Given the description of an element on the screen output the (x, y) to click on. 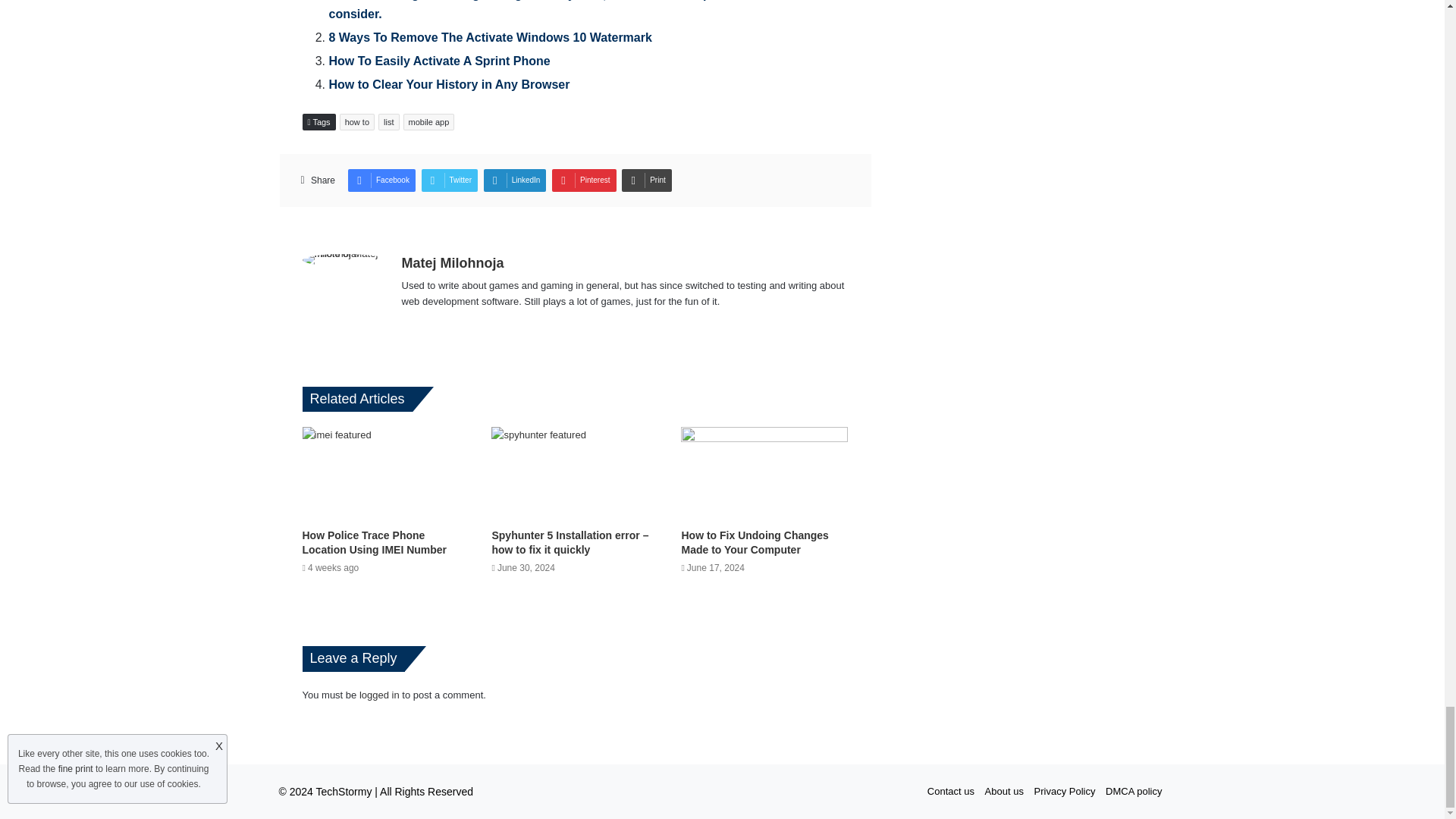
Facebook (380, 179)
How to Clear Your History in Any Browser (449, 83)
8 Ways To Remove The Activate Windows 10 Watermark (490, 37)
8 Ways To Remove The Activate Windows 10 Watermark (490, 37)
How To Easily Activate A Sprint Phone (439, 60)
How To Easily Activate A Sprint Phone (439, 60)
list (388, 121)
Twitter (449, 179)
how to (356, 121)
